Given the description of an element on the screen output the (x, y) to click on. 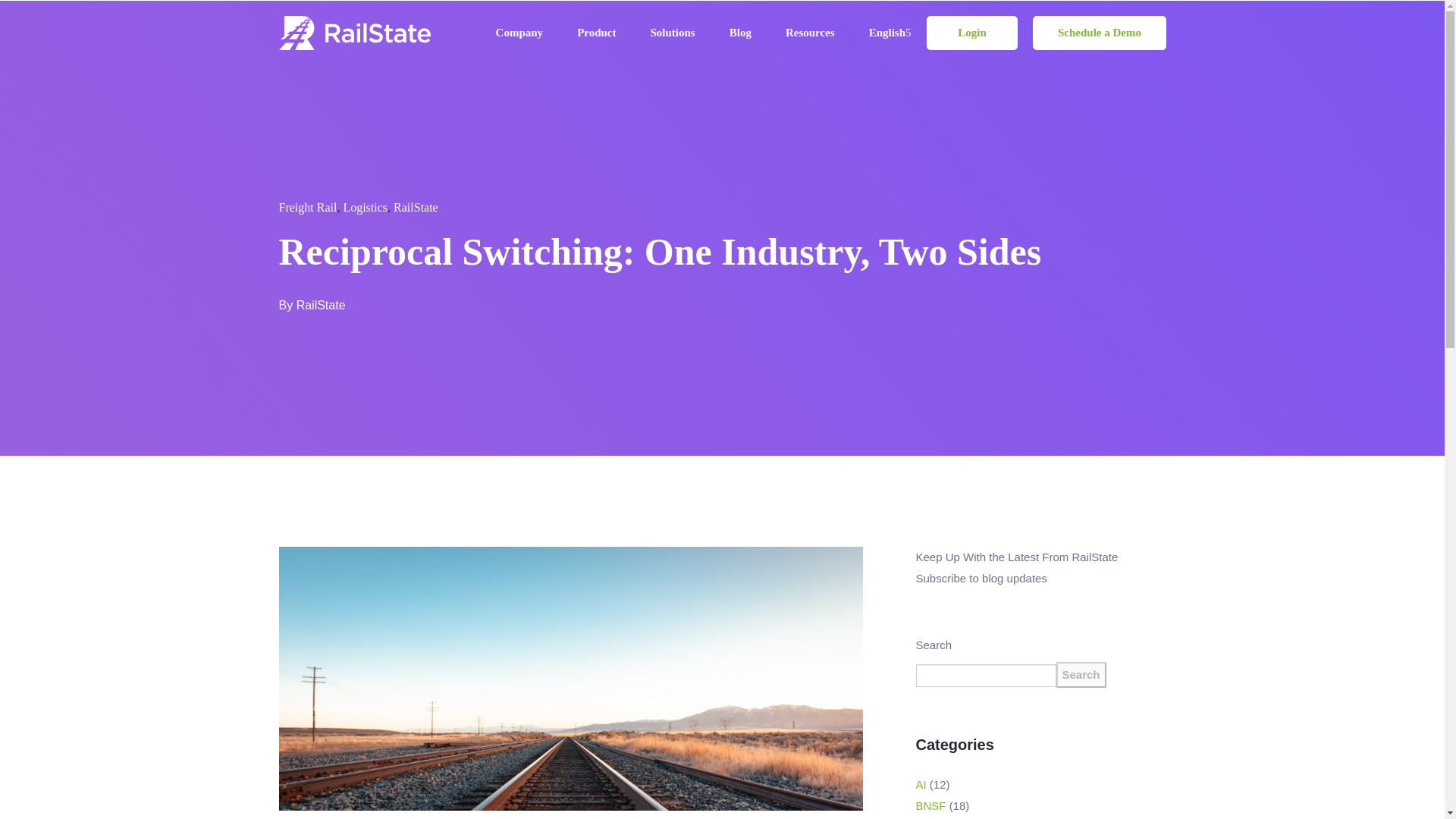
Blog (740, 32)
Freight Rail (308, 206)
Schedule a Demo (1099, 32)
English (890, 32)
English (890, 32)
RailState (321, 305)
Search (1080, 674)
Company (519, 32)
Login (971, 32)
